Given the description of an element on the screen output the (x, y) to click on. 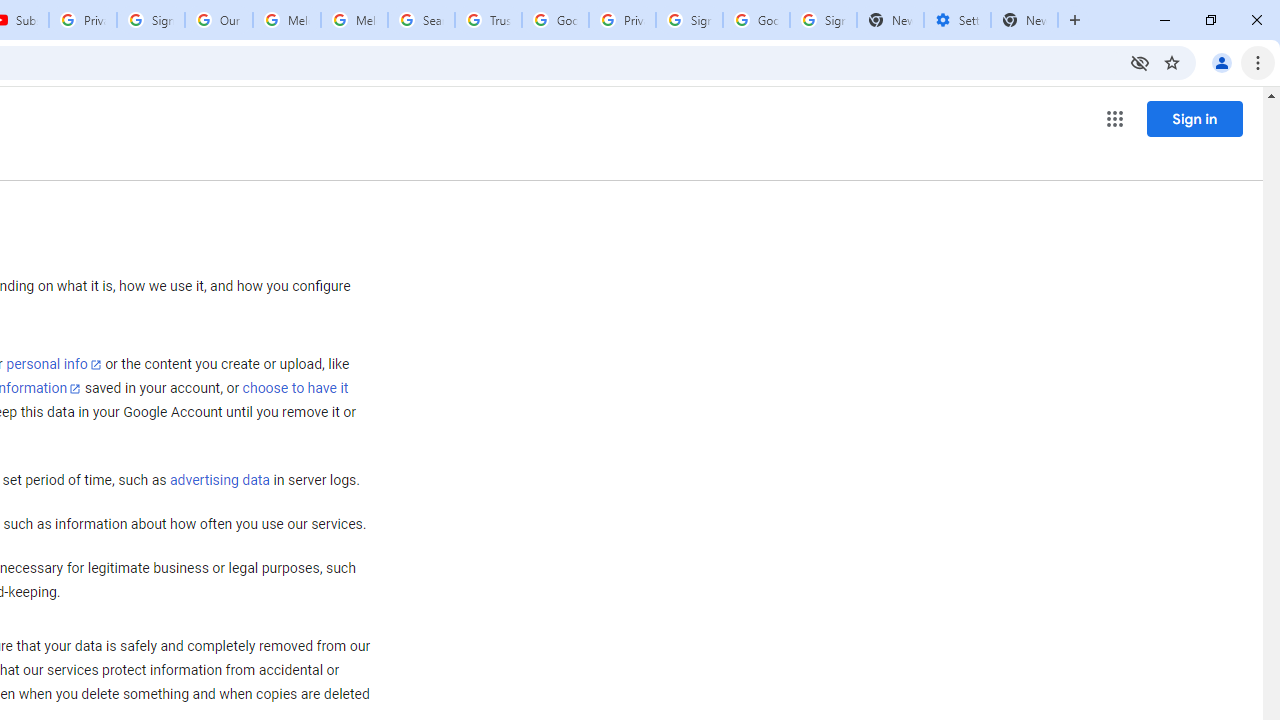
Sign in - Google Accounts (823, 20)
Google apps (1114, 118)
personal info (54, 364)
Google Cybersecurity Innovations - Google Safety Center (756, 20)
advertising data (219, 481)
Settings - Addresses and more (957, 20)
